Given the description of an element on the screen output the (x, y) to click on. 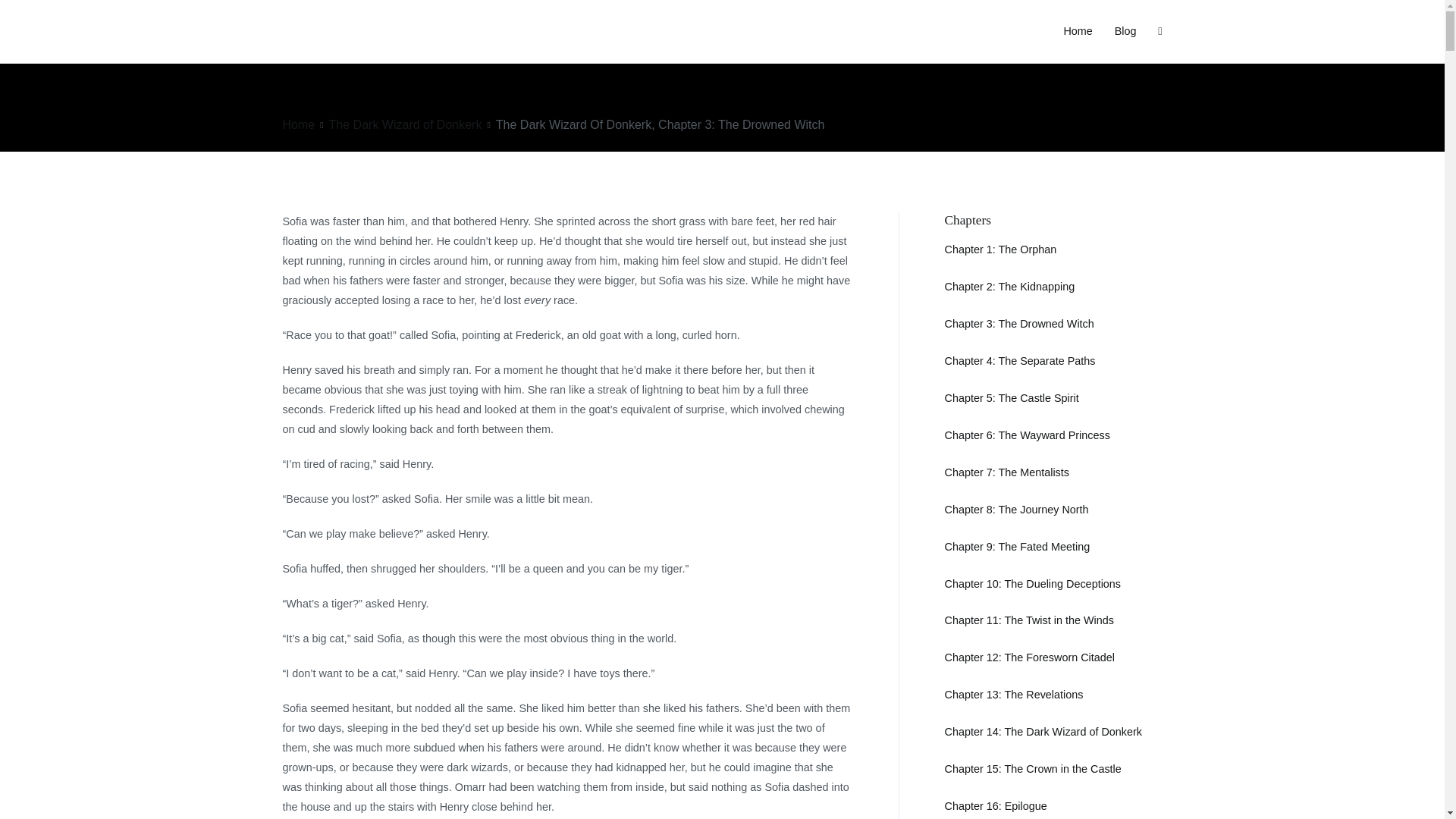
Home (298, 124)
Chapter 7: The Mentalists (1007, 472)
Blog (1126, 31)
Chapter 16: Epilogue (995, 806)
Chapter 9: The Fated Meeting (1017, 546)
Chapter 5: The Castle Spirit (1011, 398)
Chapter 6: The Wayward Princess (1026, 435)
Chapter 1: The Orphan (1000, 249)
Chapter 3: The Drowned Witch (1019, 323)
Chapter 10: The Dueling Deceptions (1032, 583)
Chapter 8: The Journey North (1016, 509)
Chapter 12: The Foresworn Citadel (1029, 657)
Chapter 4: The Separate Paths (1020, 360)
Chapter 14: The Dark Wizard of Donkerk (1042, 731)
